Given the description of an element on the screen output the (x, y) to click on. 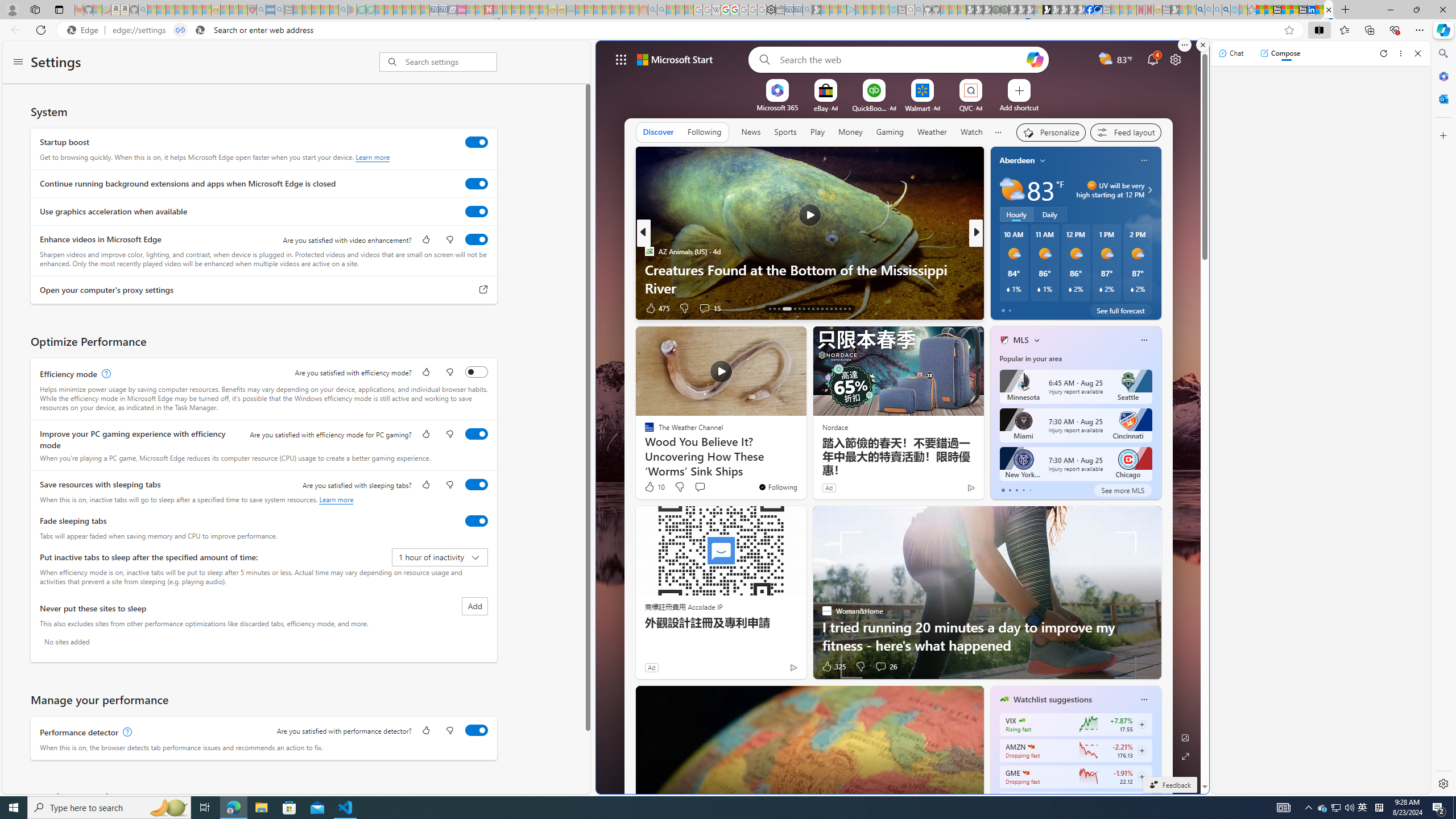
AZ Animals (US) (649, 250)
Class: follow-button  m (1142, 776)
Microsoft start (674, 59)
Hourly (1015, 214)
Compose (1279, 52)
10 Like (654, 486)
AQI & Health | AirNow.gov (1098, 9)
